Given the description of an element on the screen output the (x, y) to click on. 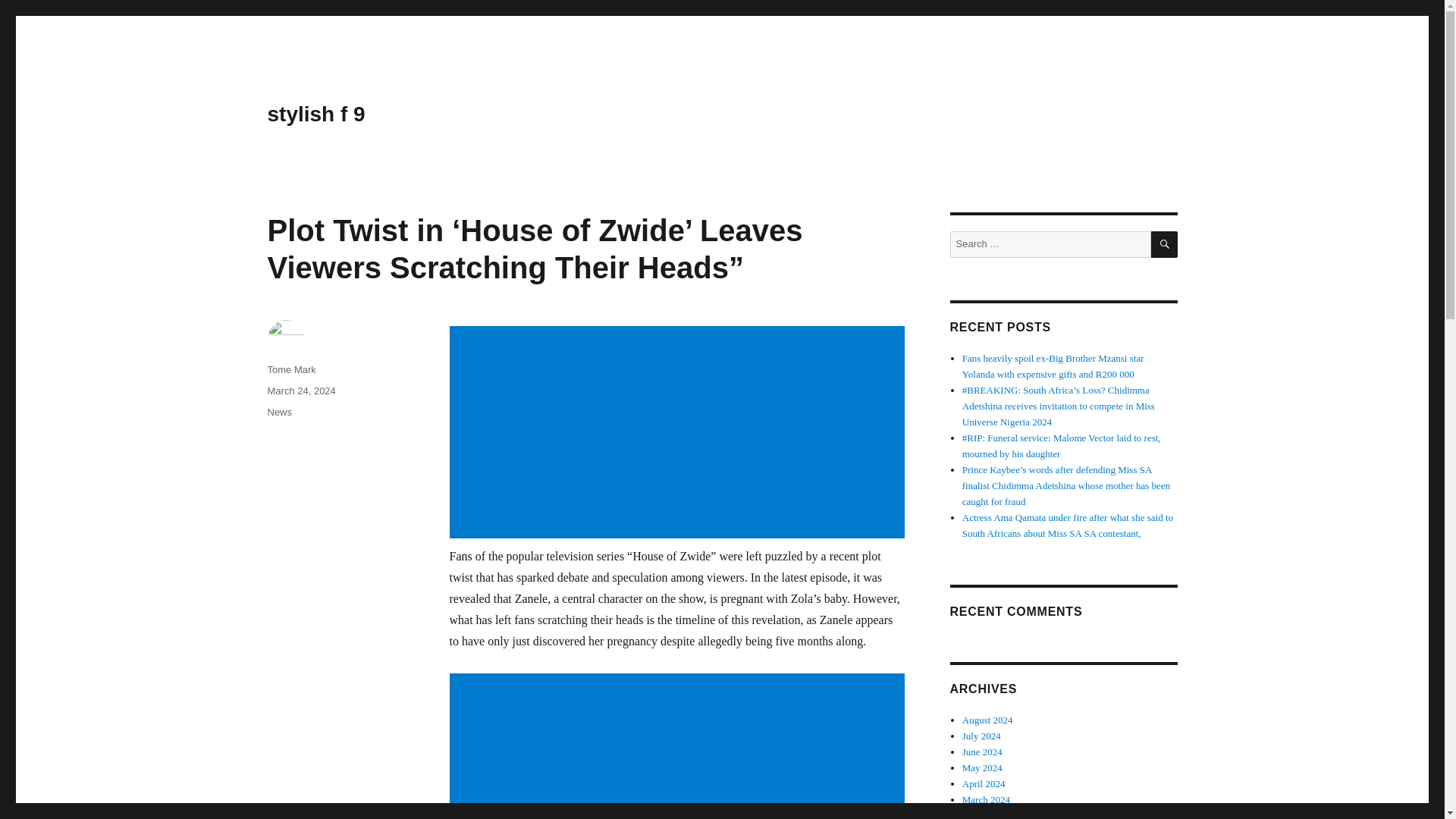
April 2024 (984, 783)
June 2024 (982, 751)
March 24, 2024 (300, 390)
Advertisement (679, 433)
August 2024 (987, 719)
July 2024 (981, 736)
stylish f 9 (315, 114)
Advertisement (679, 746)
Tome Mark (290, 369)
